Given the description of an element on the screen output the (x, y) to click on. 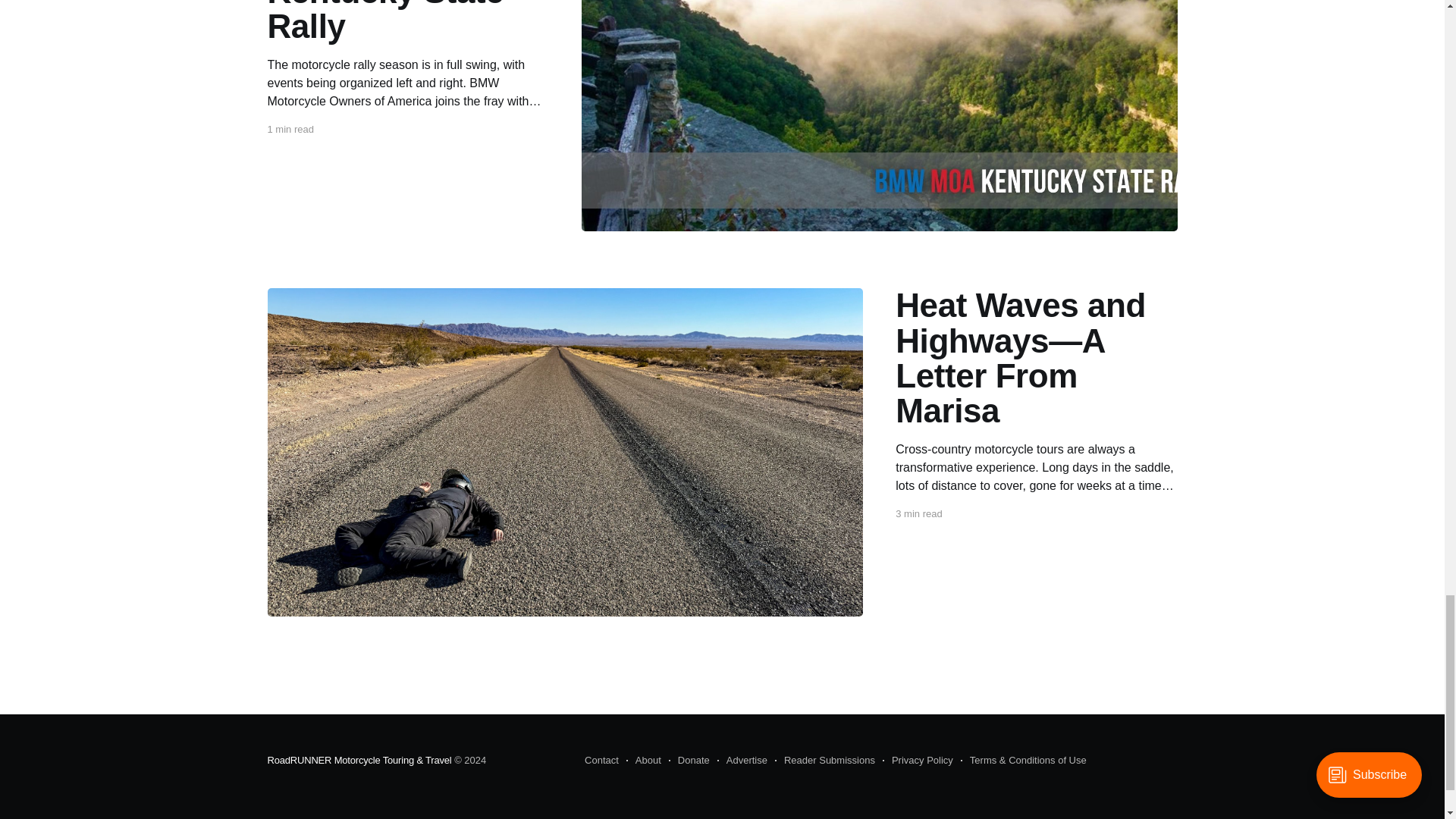
Advertise (742, 760)
About (643, 760)
Reader Submissions (824, 760)
Contact (601, 760)
Privacy Policy (917, 760)
Donate (689, 760)
